Given the description of an element on the screen output the (x, y) to click on. 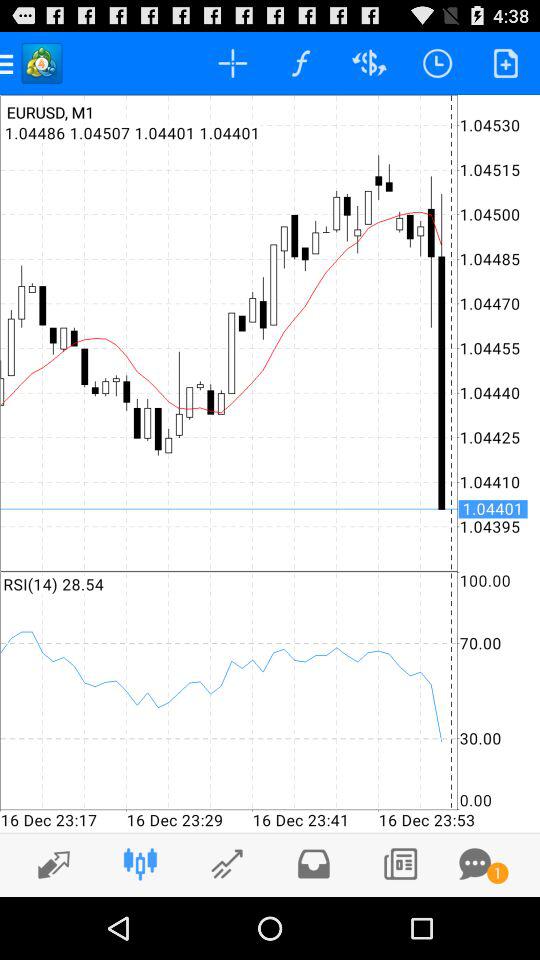
save to folder (313, 863)
